Given the description of an element on the screen output the (x, y) to click on. 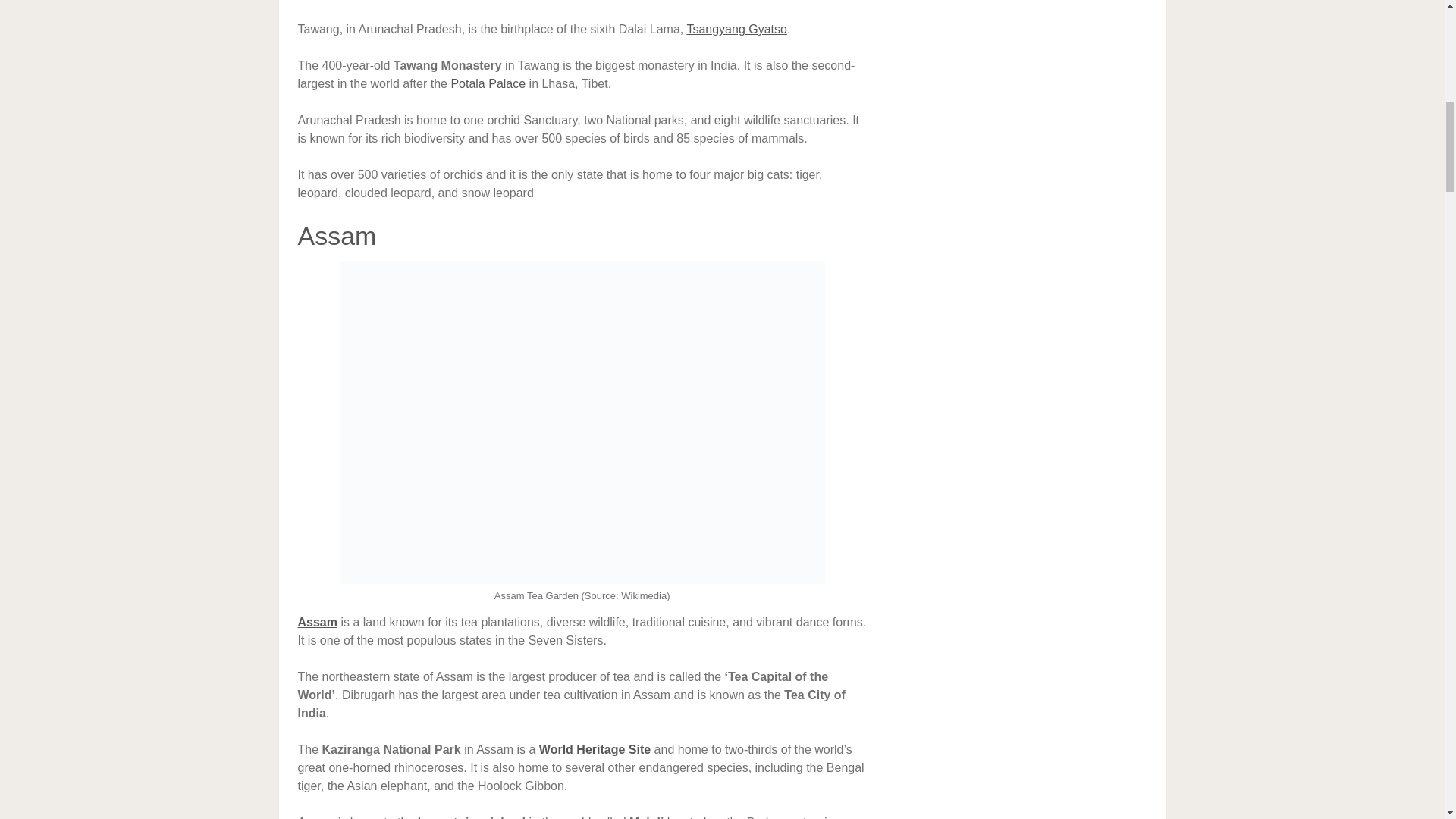
Tsangyang Gyatso (736, 29)
Potala Palace (487, 83)
Assam (316, 621)
World Heritage Site (594, 748)
